Given the description of an element on the screen output the (x, y) to click on. 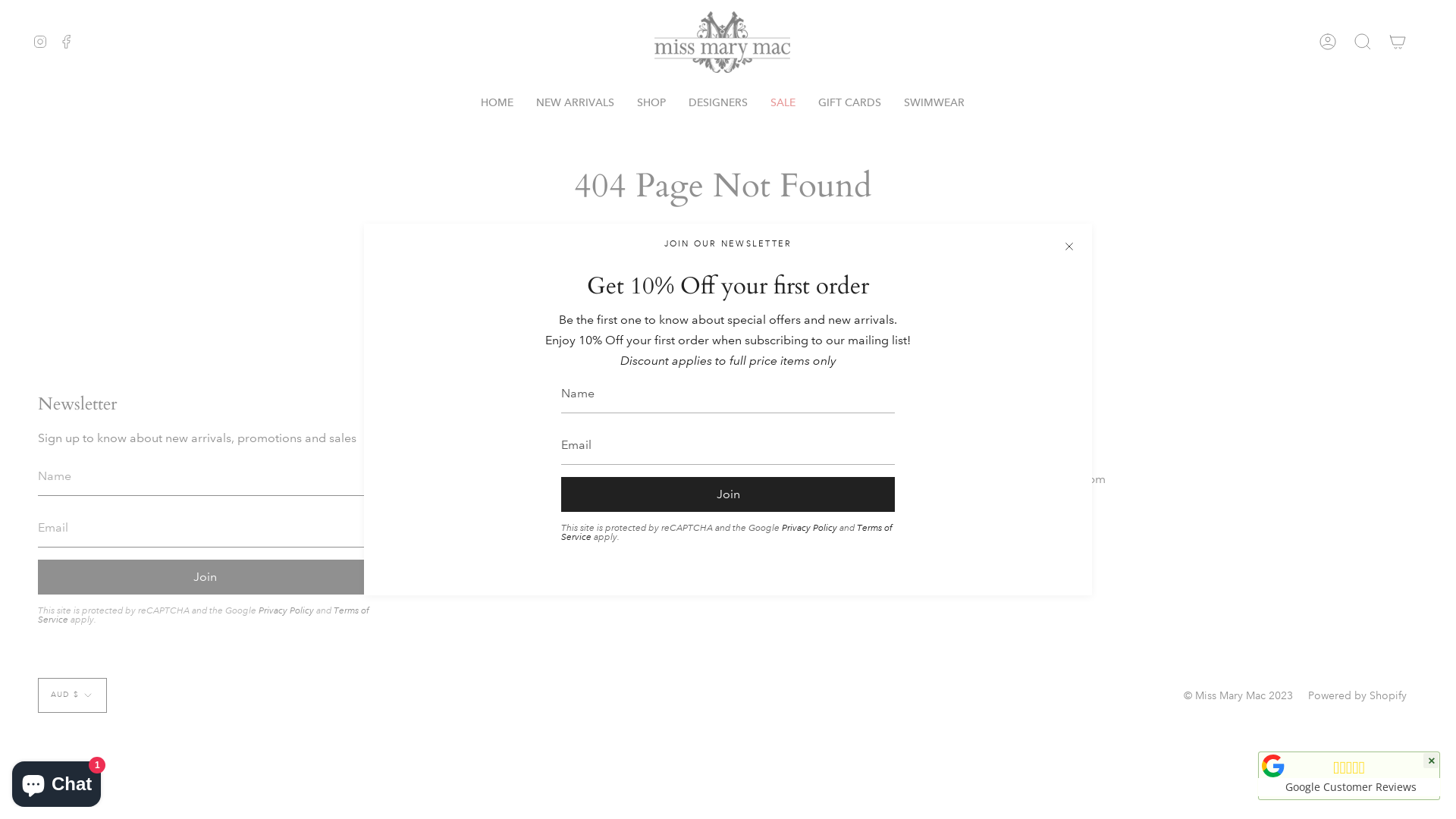
Shopify online store chat Element type: hover (56, 780)
 Google Customer Reviews Element type: text (1348, 786)
GIFT CARDS Element type: text (849, 102)
Privacy Policy Element type: text (285, 610)
ABOUT US Element type: text (531, 437)
Powered by Shopify Element type: text (1357, 695)
Search Element type: text (1362, 42)
Terms of Service Element type: text (203, 615)
DESIGNERS Element type: text (717, 102)
Terms of Service Element type: text (726, 532)
HOME Element type: text (496, 102)
SEARCH Element type: text (888, 262)
GCR Element type: hover (1272, 765)
TERMS & CONDITIONS Element type: text (567, 496)
NEW ARRIVALS Element type: text (574, 102)
RETURNS Element type: text (528, 526)
SHOP Element type: text (650, 102)
Account Element type: text (1327, 42)
Privacy Policy Element type: text (809, 527)
SWIMWEAR Element type: text (933, 102)
Facebook Element type: text (66, 42)
Join Element type: text (727, 493)
Cart Element type: text (1397, 42)
Close Element type: hover (1068, 246)
AUD $ Element type: text (71, 694)
SALE Element type: text (782, 102)
Instagram Element type: text (39, 42)
Join Element type: text (204, 576)
CONTACT US Element type: text (541, 467)
